Given the description of an element on the screen output the (x, y) to click on. 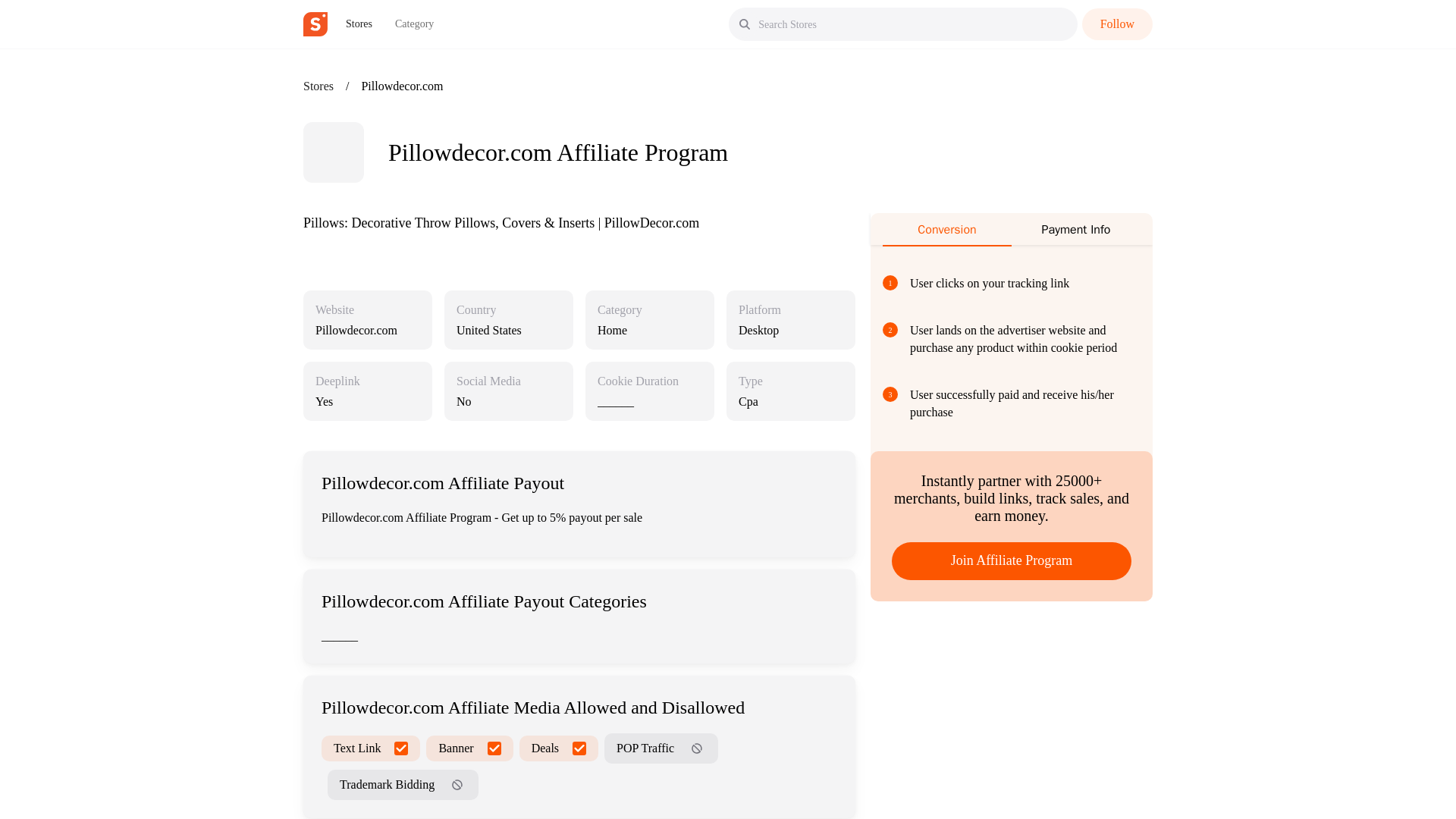
Cookie Duration (637, 381)
Stores (359, 24)
Category (619, 309)
Follow (1117, 24)
Website (334, 309)
Country (476, 309)
Home (648, 330)
Social Media (489, 381)
United States (508, 330)
Category (413, 24)
